Given the description of an element on the screen output the (x, y) to click on. 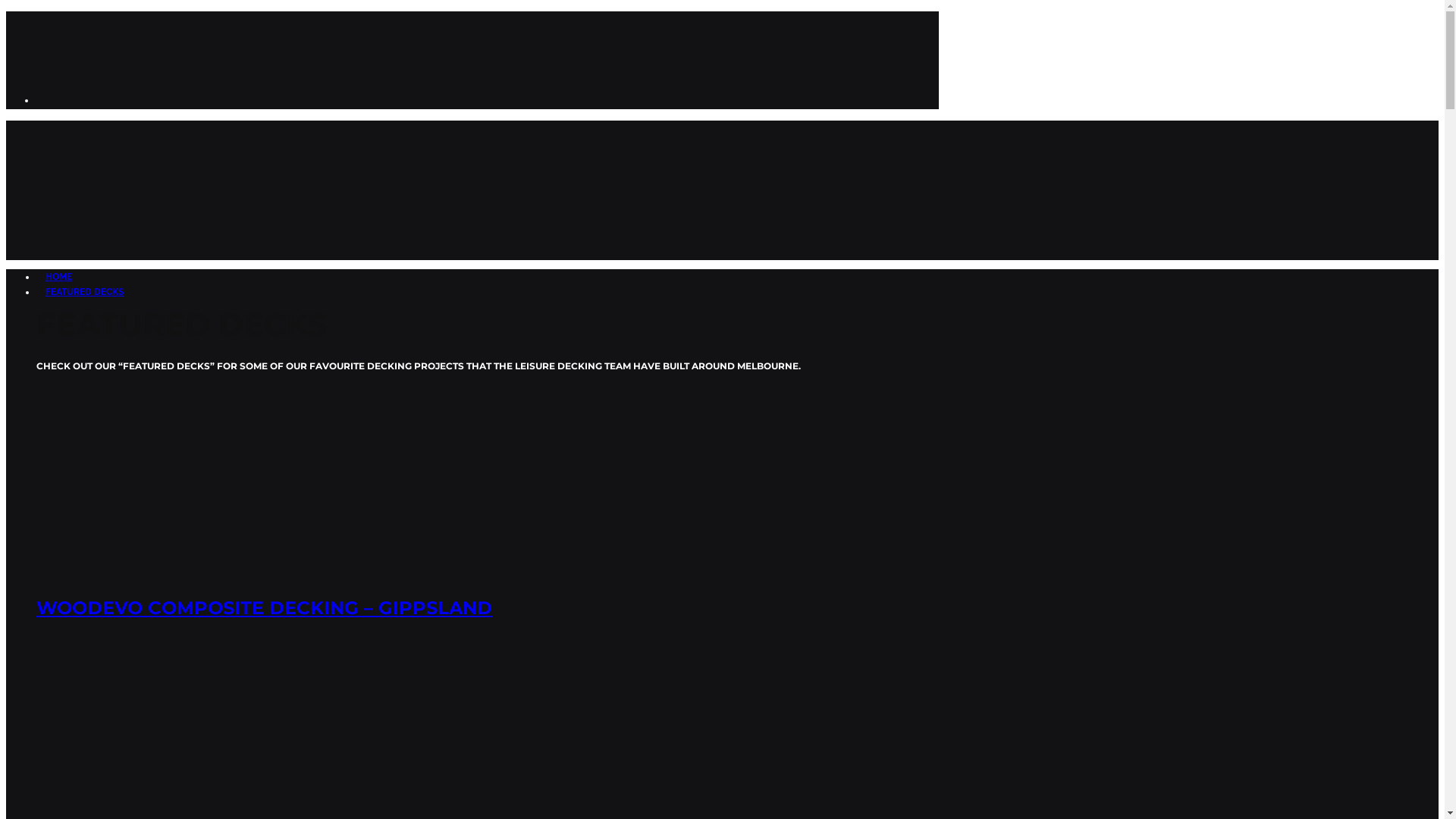
FEATURED DECKS Element type: text (84, 291)
HOME Element type: text (58, 276)
